Given the description of an element on the screen output the (x, y) to click on. 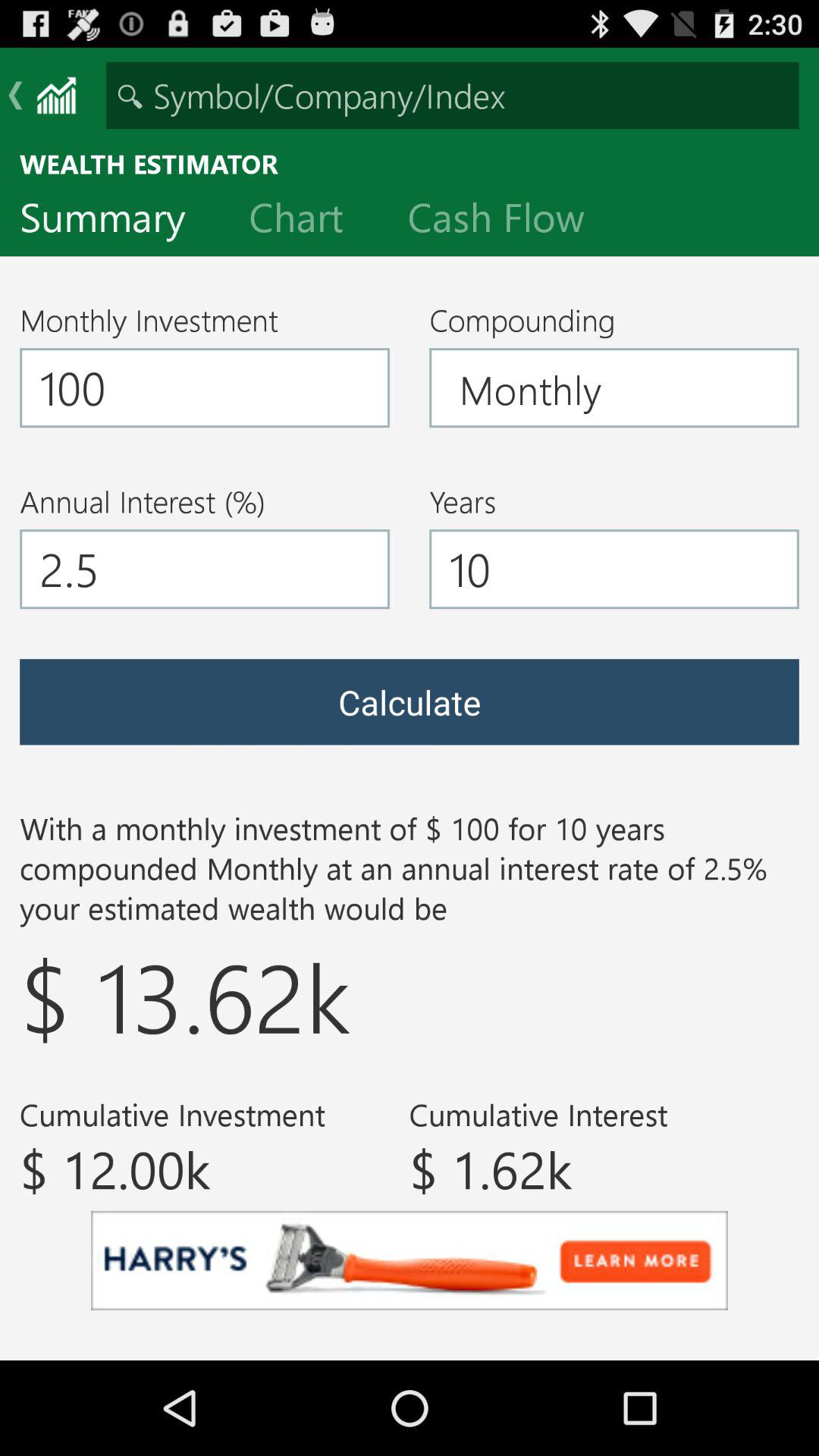
jump until cash flow item (507, 220)
